Given the description of an element on the screen output the (x, y) to click on. 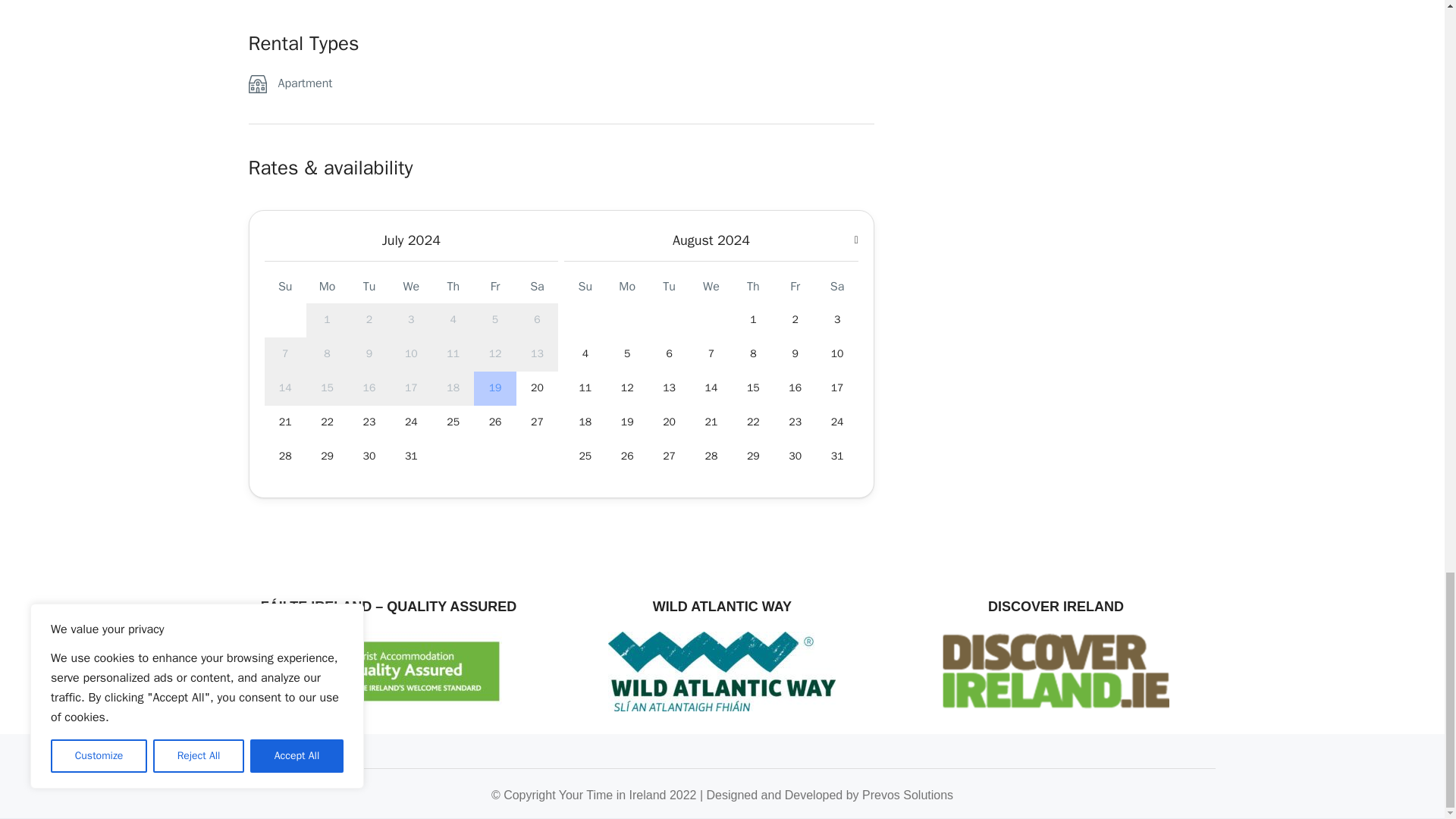
WAWFAlogo (388, 671)
